Given the description of an element on the screen output the (x, y) to click on. 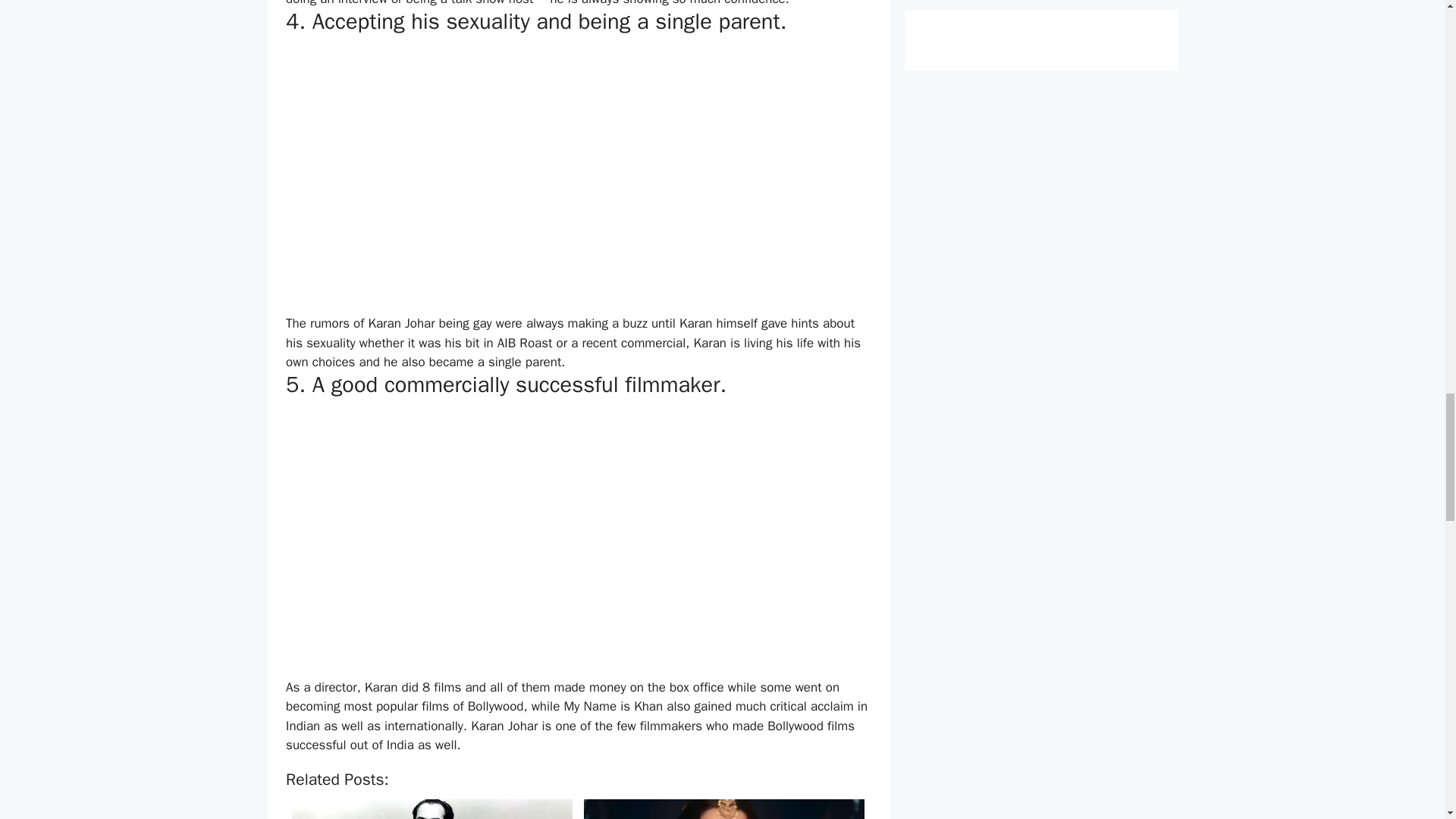
Bollywood director with most Filmfare awards win. (431, 806)
Bollywood director with most Filmfare awards win. (431, 806)
I1sAzcm (723, 809)
bimal roy most filmfare award winner director (432, 809)
